Given the description of an element on the screen output the (x, y) to click on. 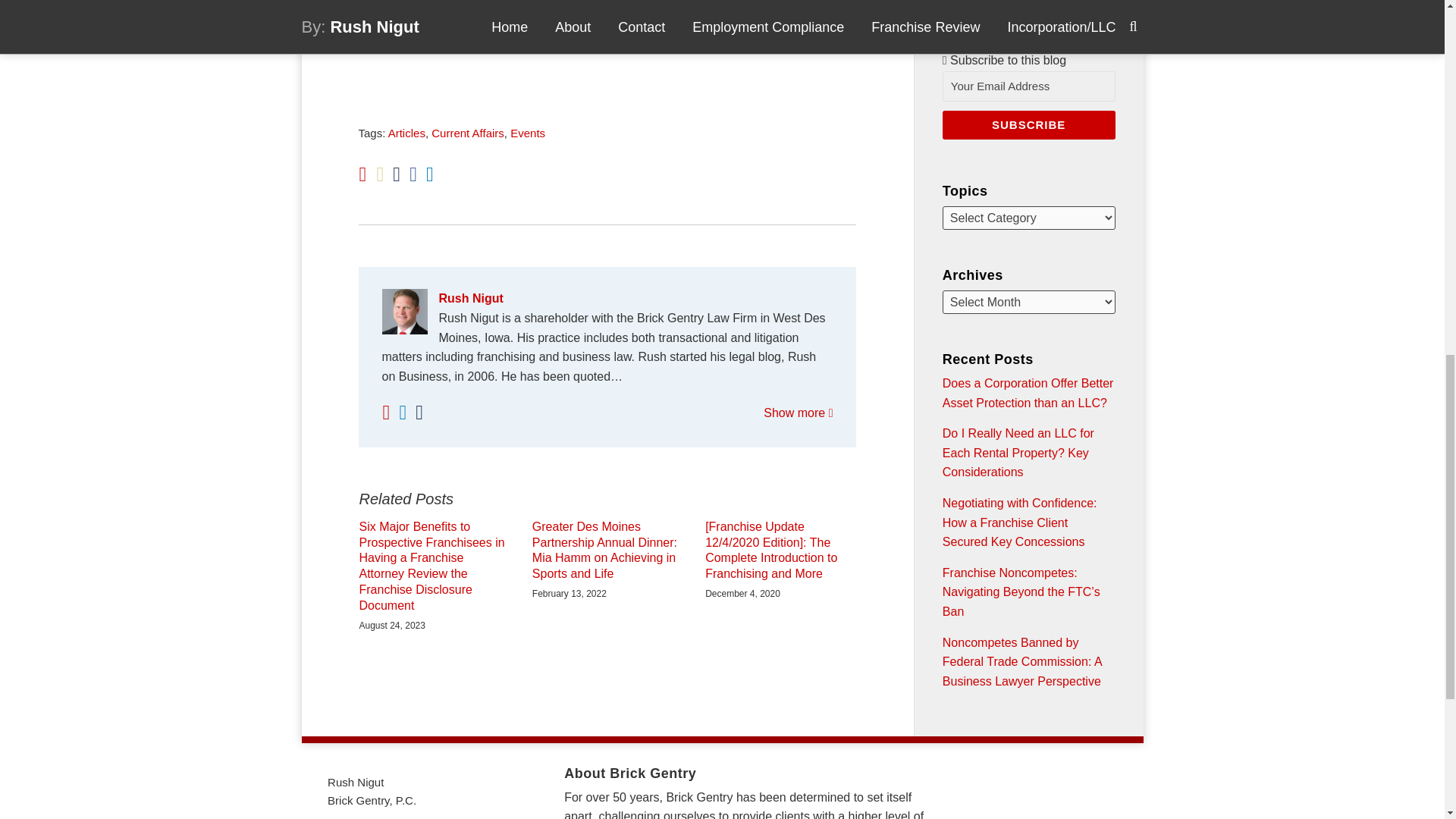
Articles (406, 132)
Show more (797, 412)
Events (527, 132)
Current Affairs (466, 132)
Subscribe (1028, 124)
Rush Nigut (606, 298)
